Given the description of an element on the screen output the (x, y) to click on. 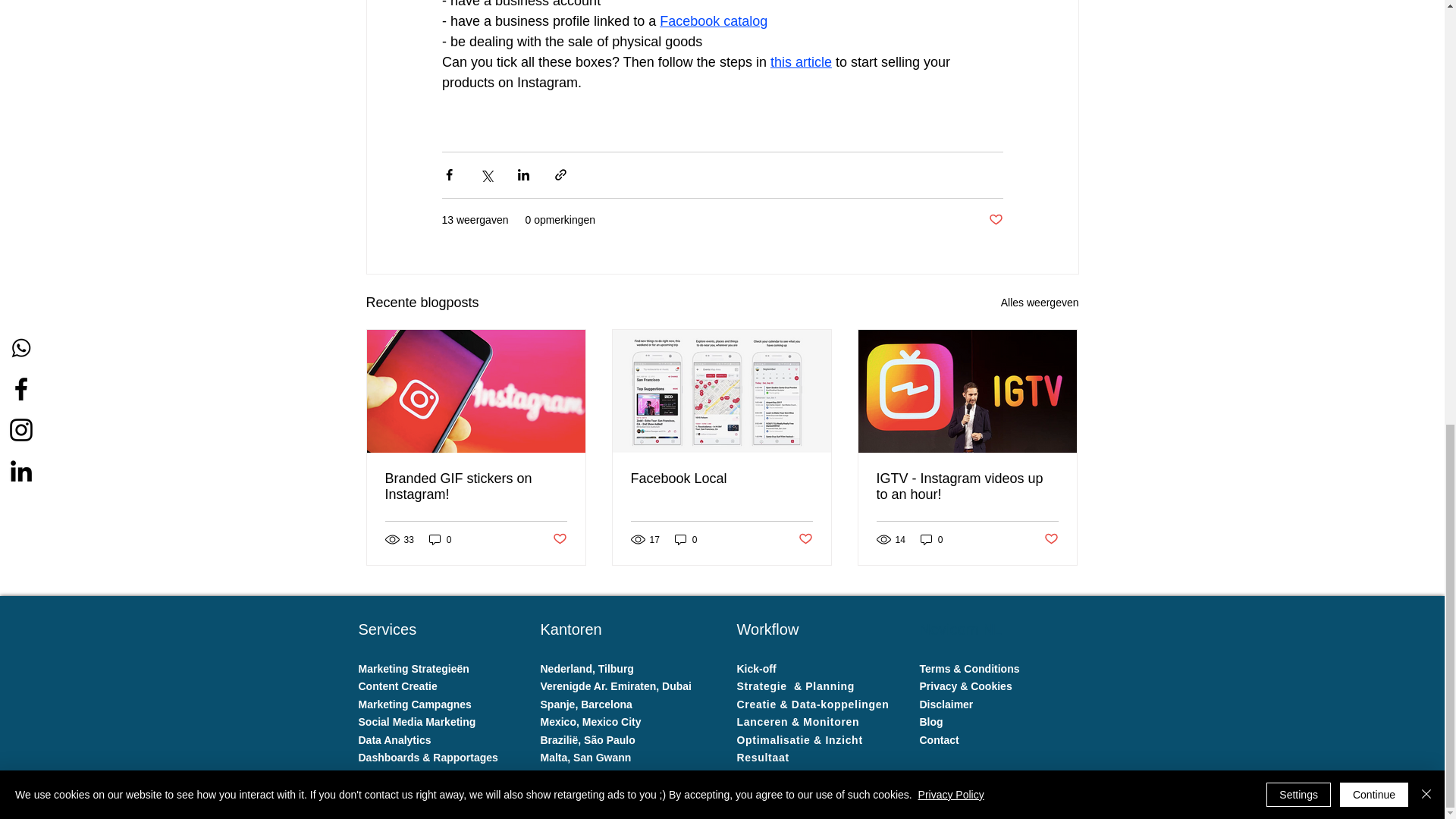
Post is niet als leuk gemarkeerd (558, 539)
Facebook Local (721, 478)
Post is niet als leuk gemarkeerd (1050, 539)
Facebook catalog (713, 20)
Post is niet als leuk gemarkeerd (995, 220)
0 (931, 539)
0 (685, 539)
this article (800, 61)
Post is niet als leuk gemarkeerd (804, 539)
IGTV - Instagram videos up to an hour! (967, 486)
Alles weergeven (1039, 302)
0 (440, 539)
Nederland, Tilburg  (588, 668)
Branded GIF stickers on Instagram! (476, 486)
